Given the description of an element on the screen output the (x, y) to click on. 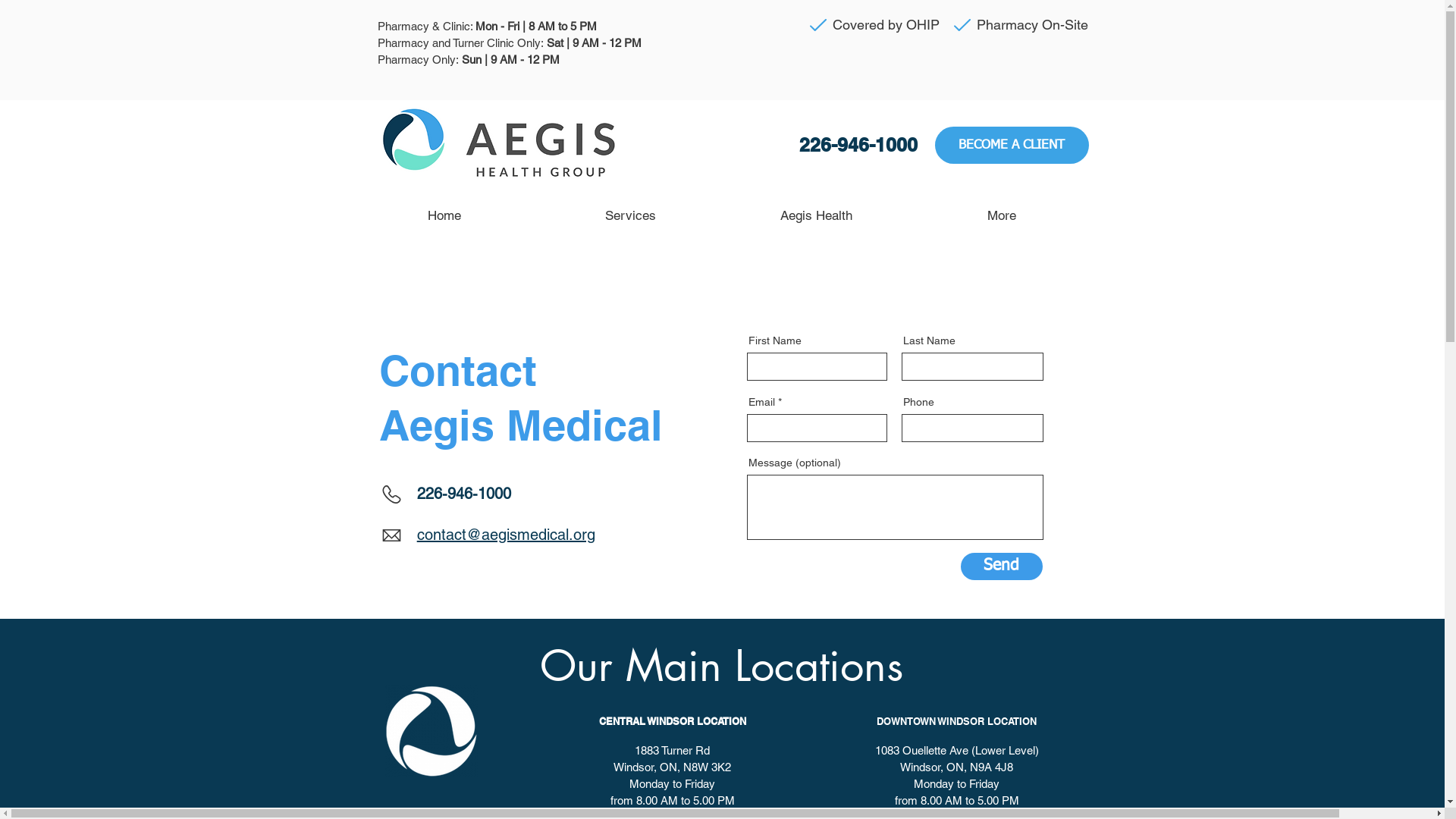
contact@aegismedical.org Element type: text (506, 534)
226-946-1000 Element type: text (464, 494)
Aegis Health Element type: text (816, 215)
BECOME A CLIENT Element type: text (1011, 144)
Home Element type: text (444, 215)
Send Element type: text (1001, 566)
Services Element type: text (629, 215)
226-946-1000 Element type: text (858, 144)
